Given the description of an element on the screen output the (x, y) to click on. 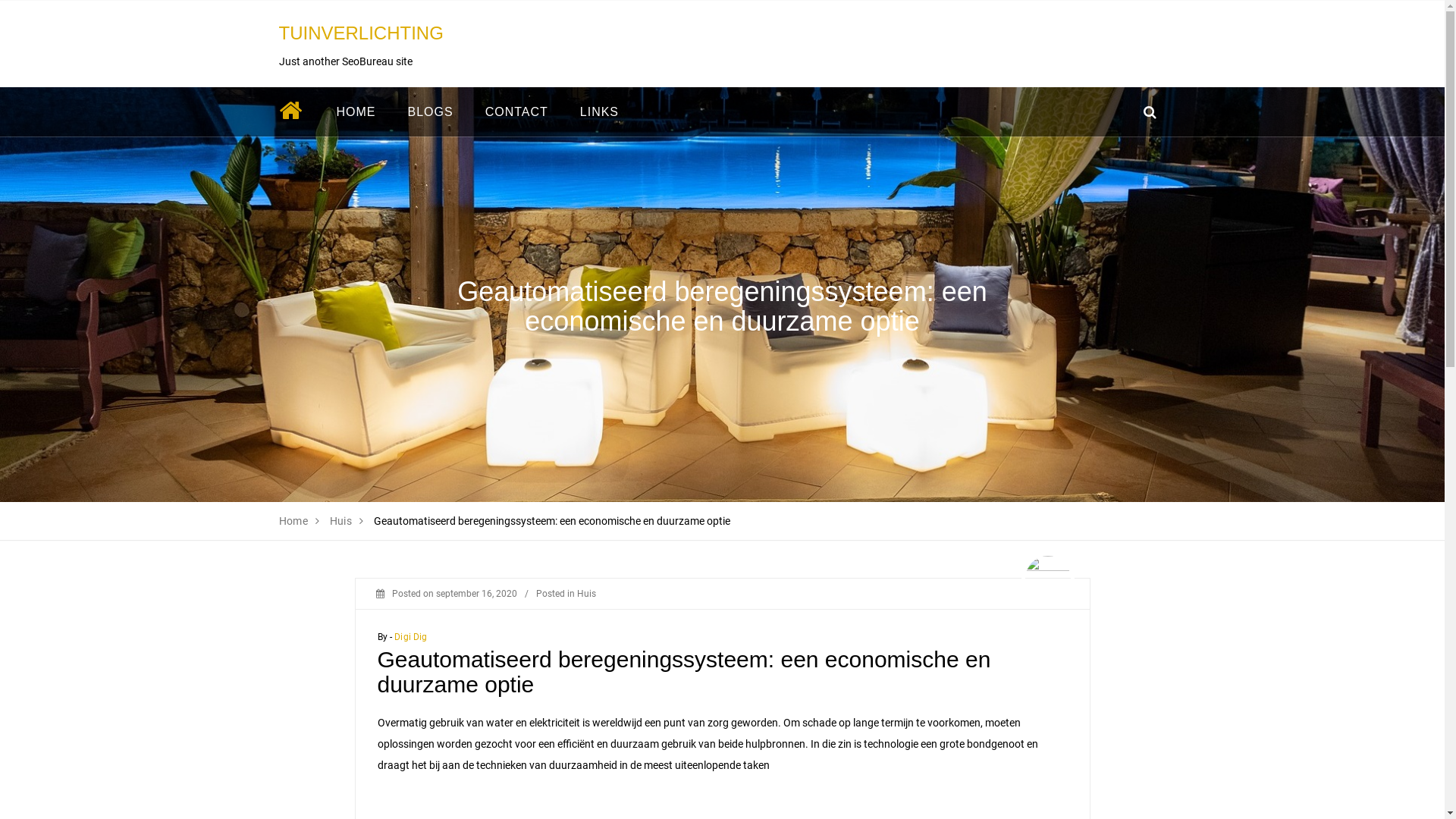
BLOGS Element type: text (429, 111)
CONTACT Element type: text (516, 111)
LINKS Element type: text (599, 111)
HOME Element type: text (355, 111)
Digi Dig Element type: text (410, 636)
september 16, 2020 Element type: text (475, 593)
Home Element type: text (293, 520)
TUINVERLICHTING Element type: text (361, 32)
Huis Element type: text (585, 593)
search_icon Element type: hover (1148, 111)
Huis Element type: text (340, 520)
